Given the description of an element on the screen output the (x, y) to click on. 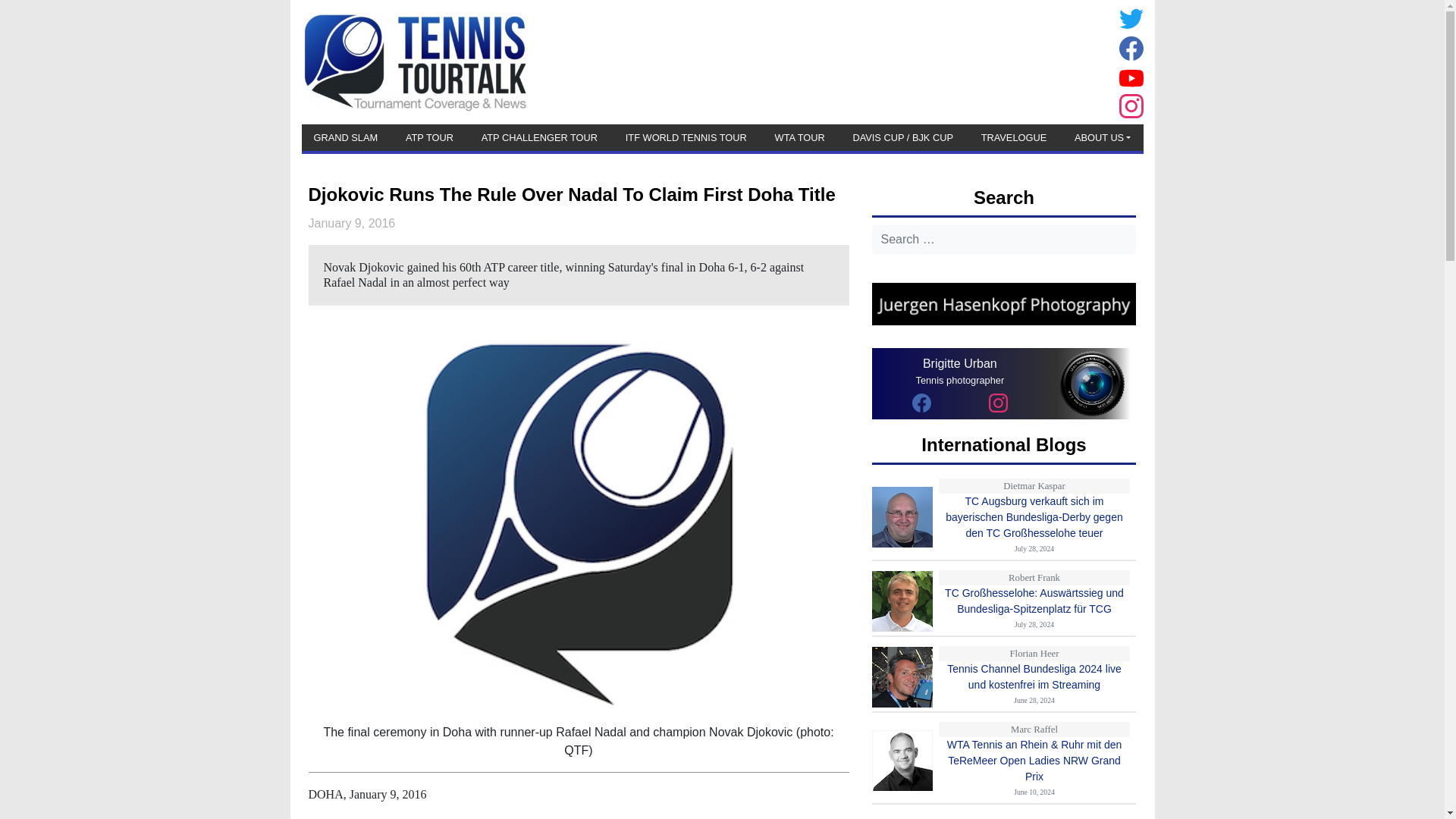
ATP Challenger Tour (540, 137)
ITF WORLD TENNIS TOUR (686, 137)
About Us (1102, 137)
ABOUT US (1102, 137)
ATP Tour (429, 137)
WTA Tour (799, 137)
WTA TOUR (799, 137)
GRAND SLAM (345, 137)
Travelogue (1013, 137)
ITF World Tennis Tour (686, 137)
ATP CHALLENGER TOUR (540, 137)
ATP TOUR (429, 137)
Tennis TourTalk (414, 60)
TRAVELOGUE (1013, 137)
